Given the description of an element on the screen output the (x, y) to click on. 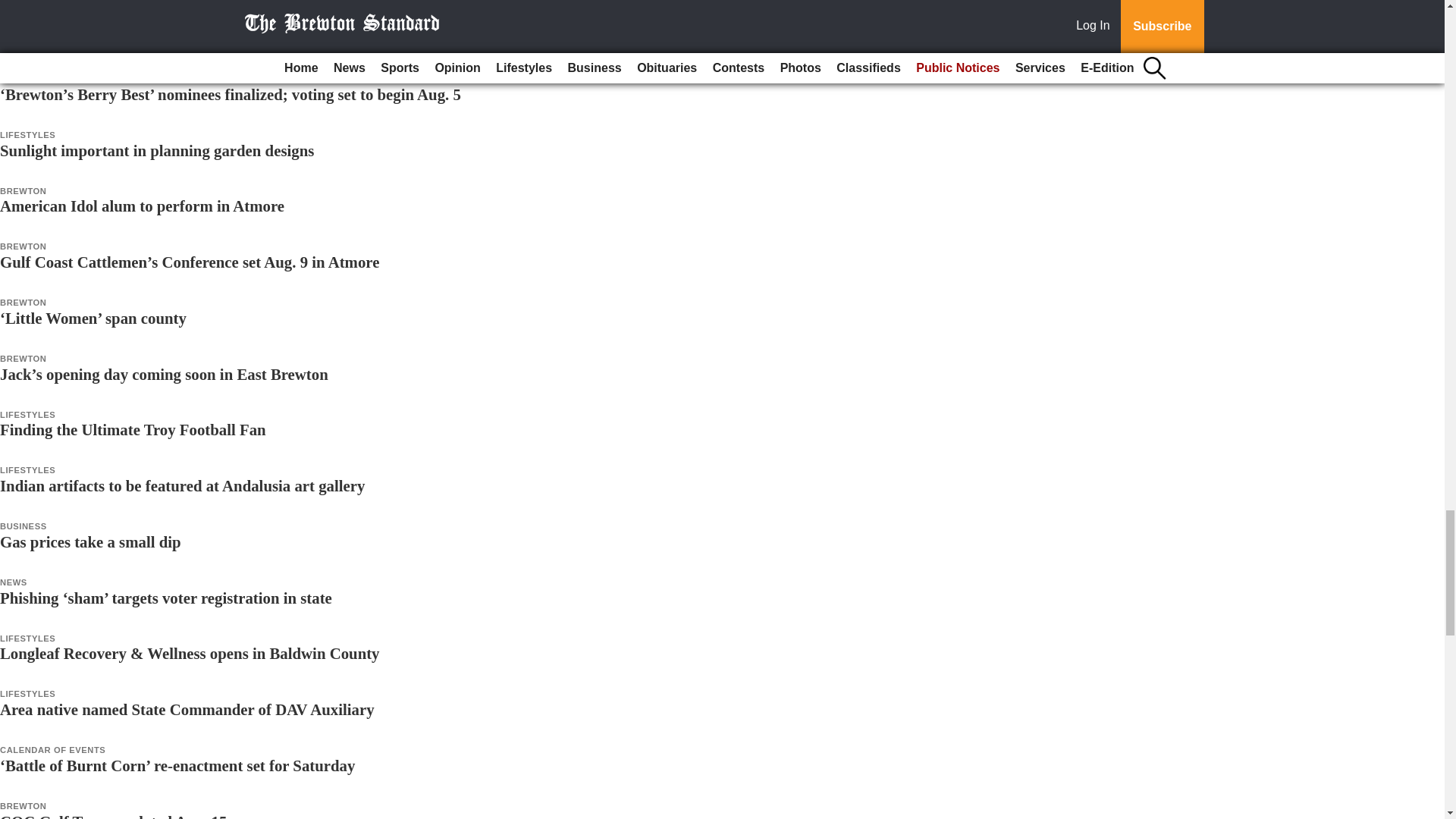
American Idol alum to perform in Atmore (141, 205)
Area native named State Commander of DAV Auxiliary (187, 709)
State residents to get first dibs on park reservations (173, 37)
Indian artifacts to be featured at Andalusia art gallery (182, 485)
Sunlight important in planning garden designs (157, 149)
Gas prices take a small dip (90, 541)
State residents to get first dibs on park reservations (173, 37)
Finding the Ultimate Troy Football Fan (133, 429)
COC Golf Tourney slated Aug. 15 (113, 816)
